Given the description of an element on the screen output the (x, y) to click on. 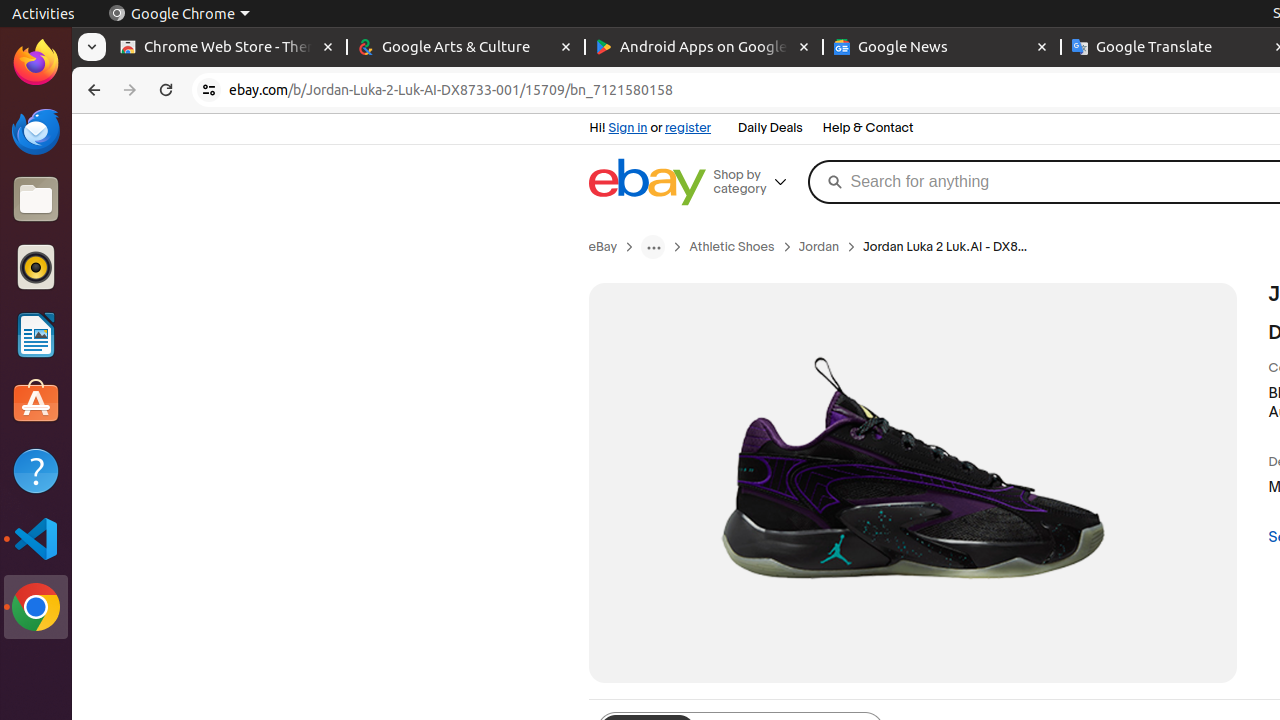
Help Element type: push-button (36, 470)
Ubuntu Software Element type: push-button (36, 402)
Android Apps on Google Play - Memory usage - 60.7 MB Element type: page-tab (704, 47)
Visual Studio Code Element type: push-button (36, 538)
View site information Element type: push-button (209, 90)
